Given the description of an element on the screen output the (x, y) to click on. 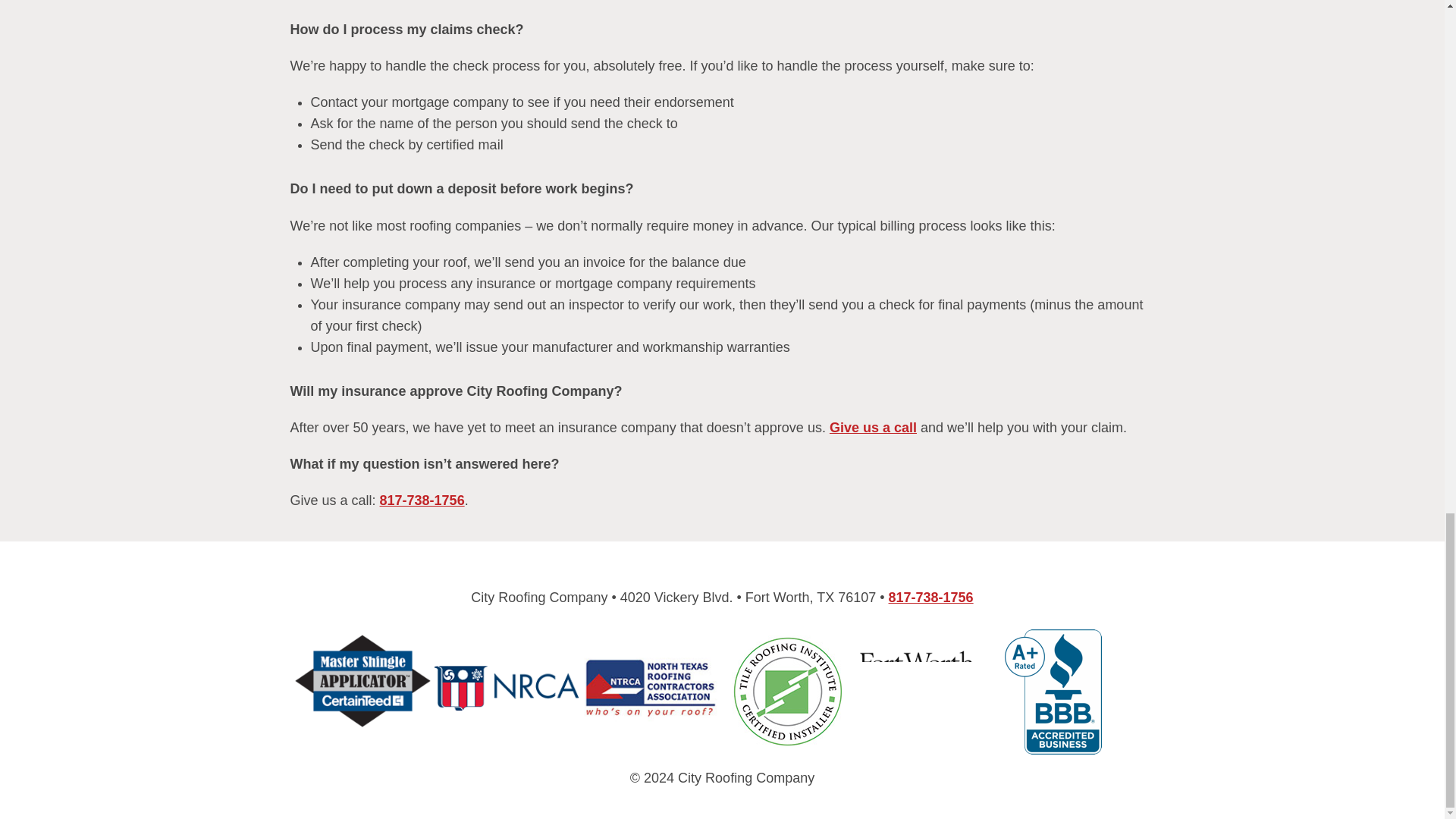
817-738-1756 (422, 500)
Give us a call (873, 427)
817-738-1756 (931, 597)
